Given the description of an element on the screen output the (x, y) to click on. 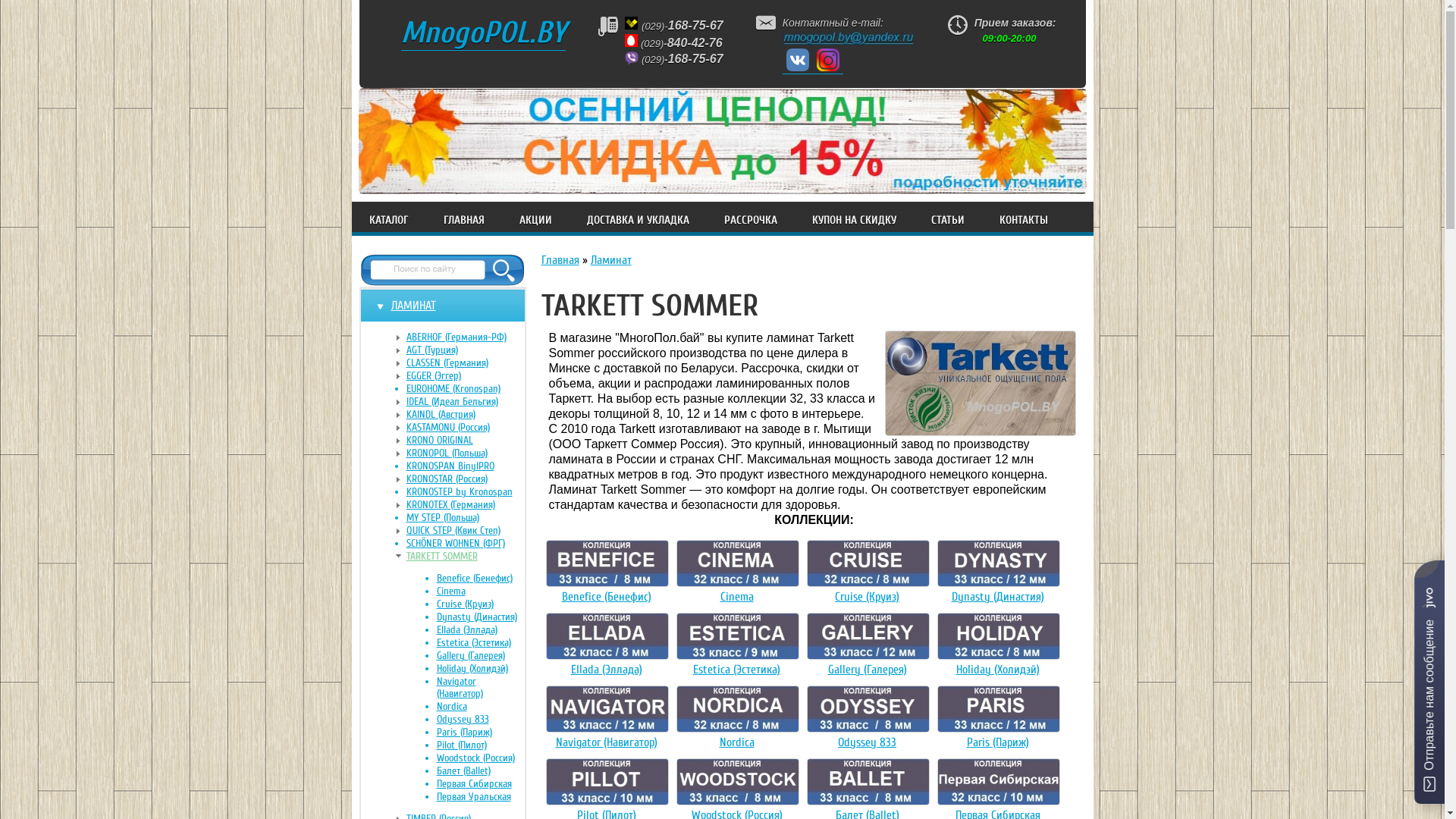
Nordica Element type: text (735, 742)
Odyssey 833 Element type: text (866, 742)
Cinema Element type: text (736, 596)
KRONO ORIGINAL Element type: text (465, 440)
KRONOSTEP by Kronospan Element type: text (465, 492)
Cinema Element type: text (480, 591)
MnogoPOL.BY Element type: text (482, 32)
Odyssey 833 Element type: text (480, 719)
KRONOSPAN BinylPRO Element type: text (465, 466)
TARKETT SOMMER Element type: text (465, 556)
EUROHOME (Kronospan) Element type: text (465, 388)
Nordica Element type: text (480, 706)
